Given the description of an element on the screen output the (x, y) to click on. 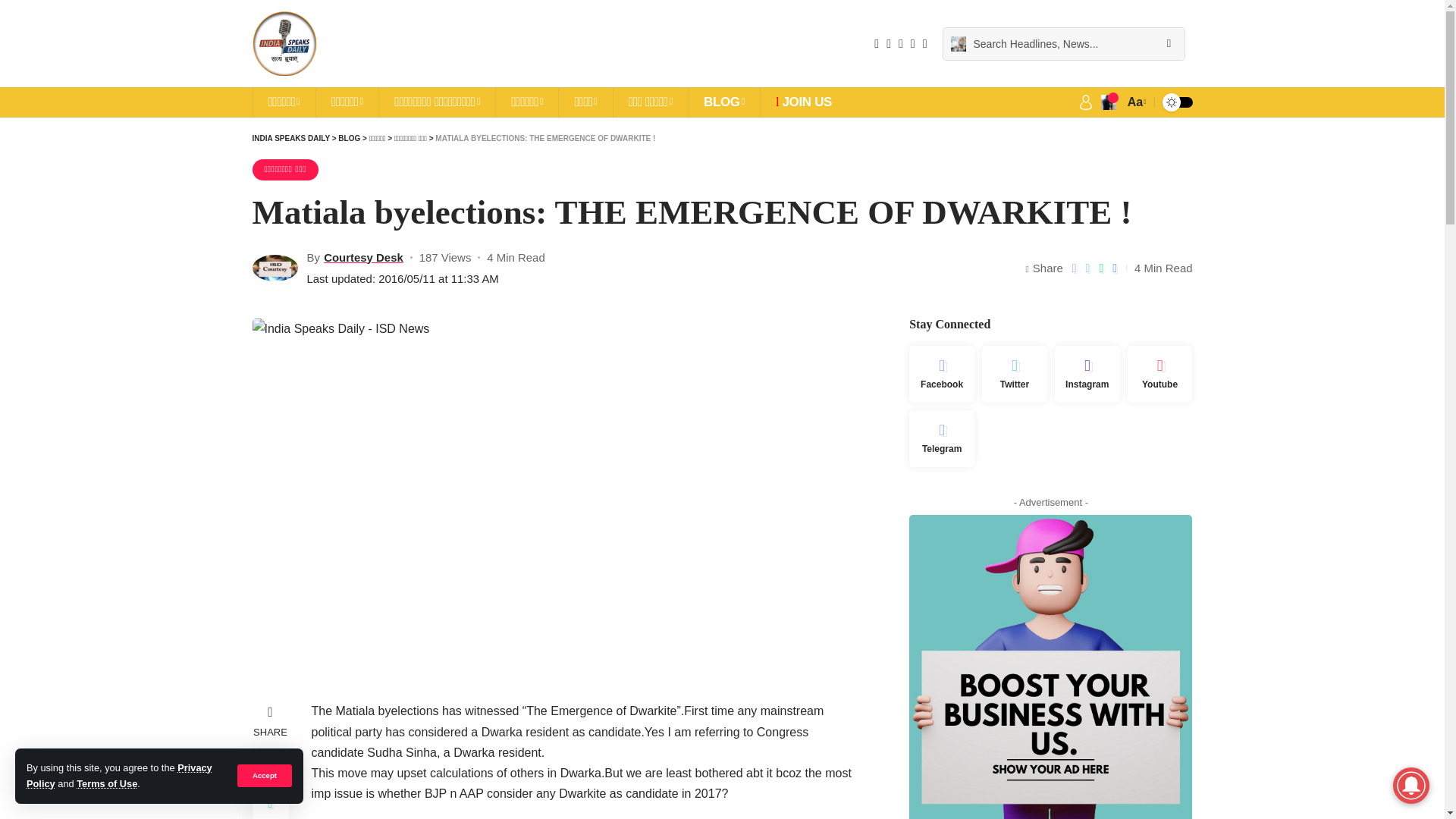
Go to India Speaks Daily. (290, 138)
Accept (264, 775)
Matiala byelections: THE EMERGENCE OF DWARKITE ! (445, 256)
India Speaks Daily (283, 43)
Terms of Use (106, 783)
Go to Blog. (348, 138)
Search (1168, 43)
Privacy Policy (119, 775)
